Given the description of an element on the screen output the (x, y) to click on. 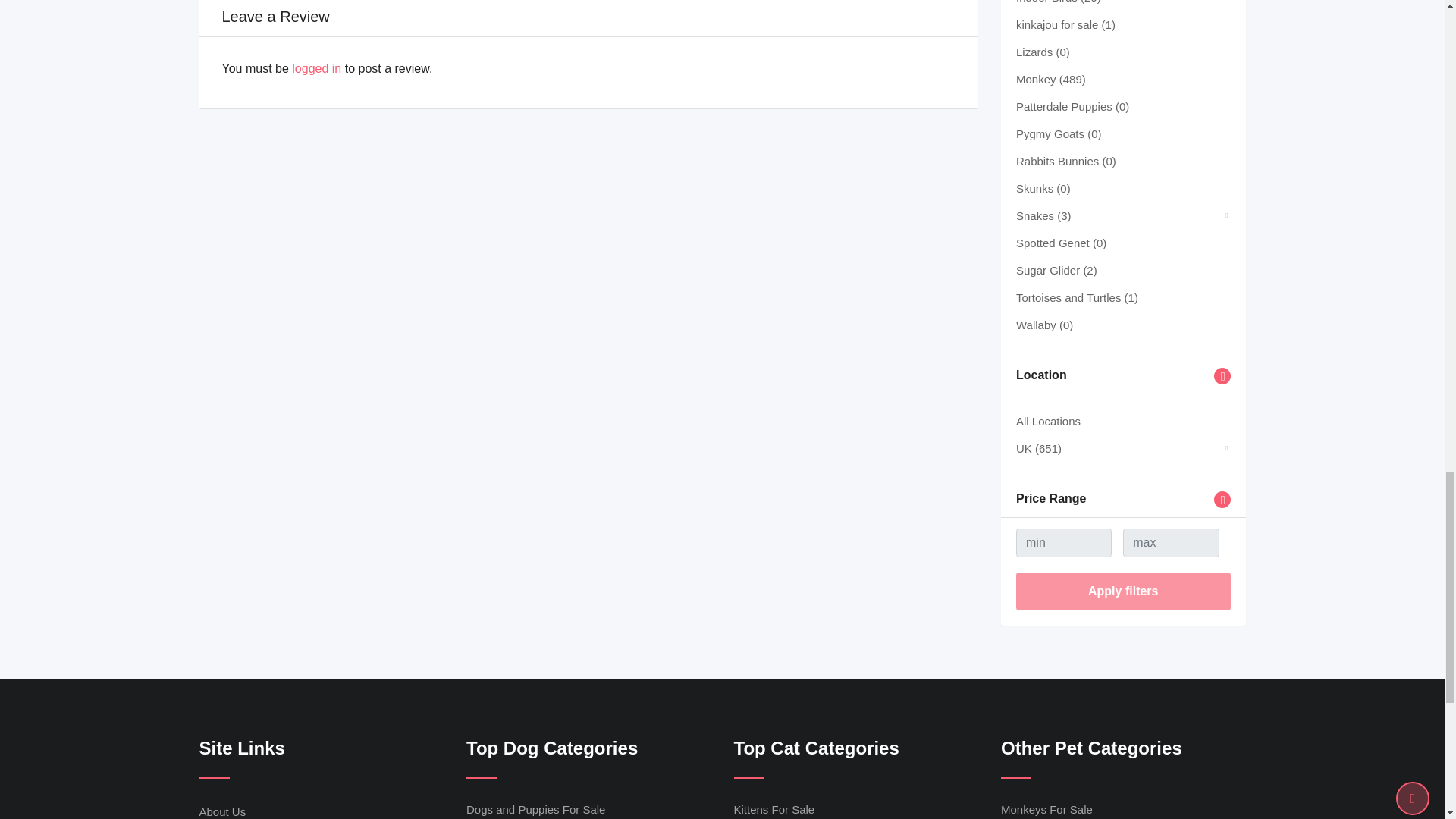
Dogs and Puppies For Sale (535, 809)
